Given the description of an element on the screen output the (x, y) to click on. 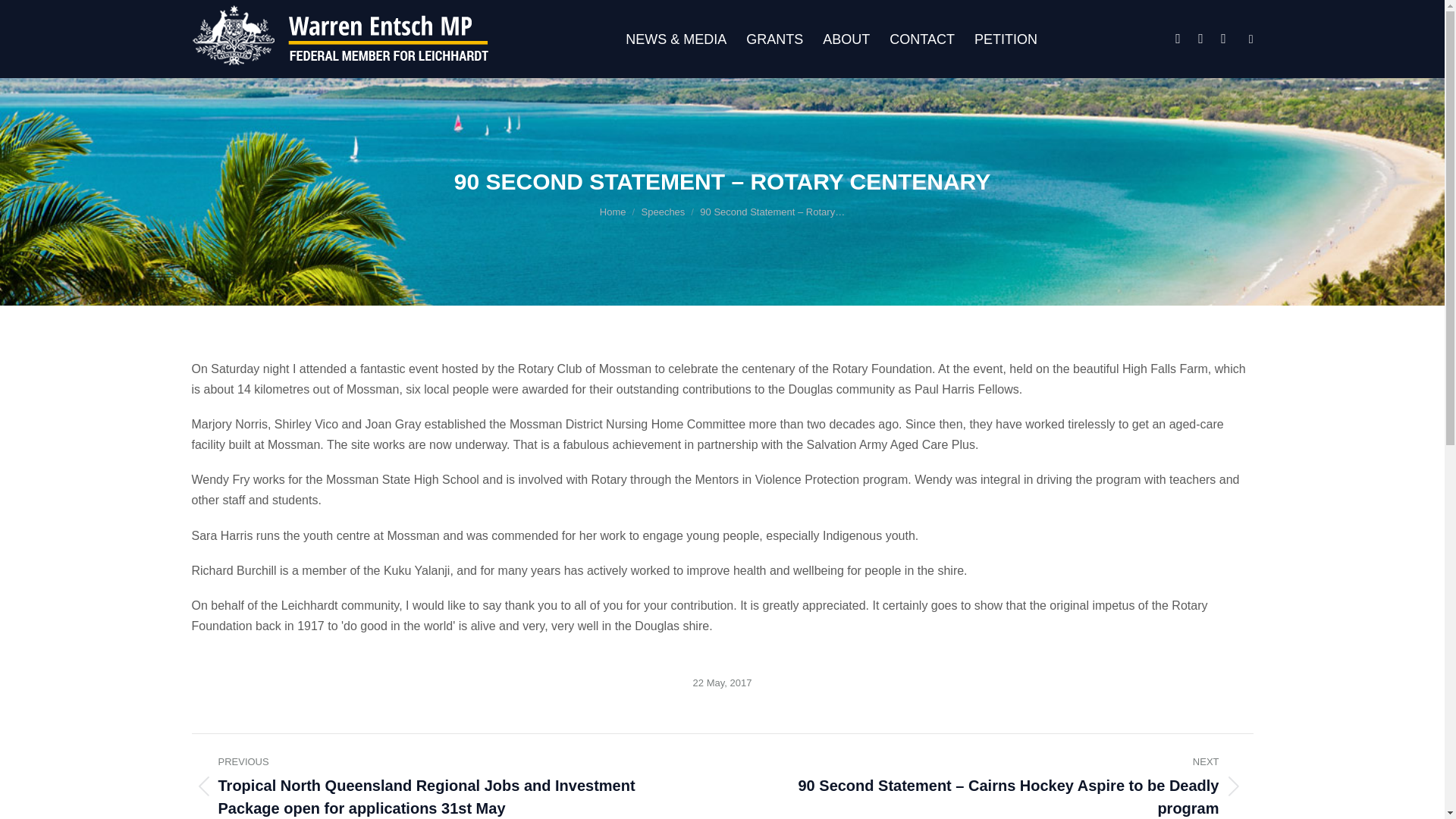
Home (612, 211)
YouTube page opens in new window (1223, 38)
Instagram page opens in new window (1201, 38)
Facebook page opens in new window (1178, 38)
ABOUT (845, 38)
Speeches (663, 211)
PETITION (1005, 38)
GRANTS (774, 38)
Go! (27, 18)
Instagram page opens in new window (1201, 38)
